Given the description of an element on the screen output the (x, y) to click on. 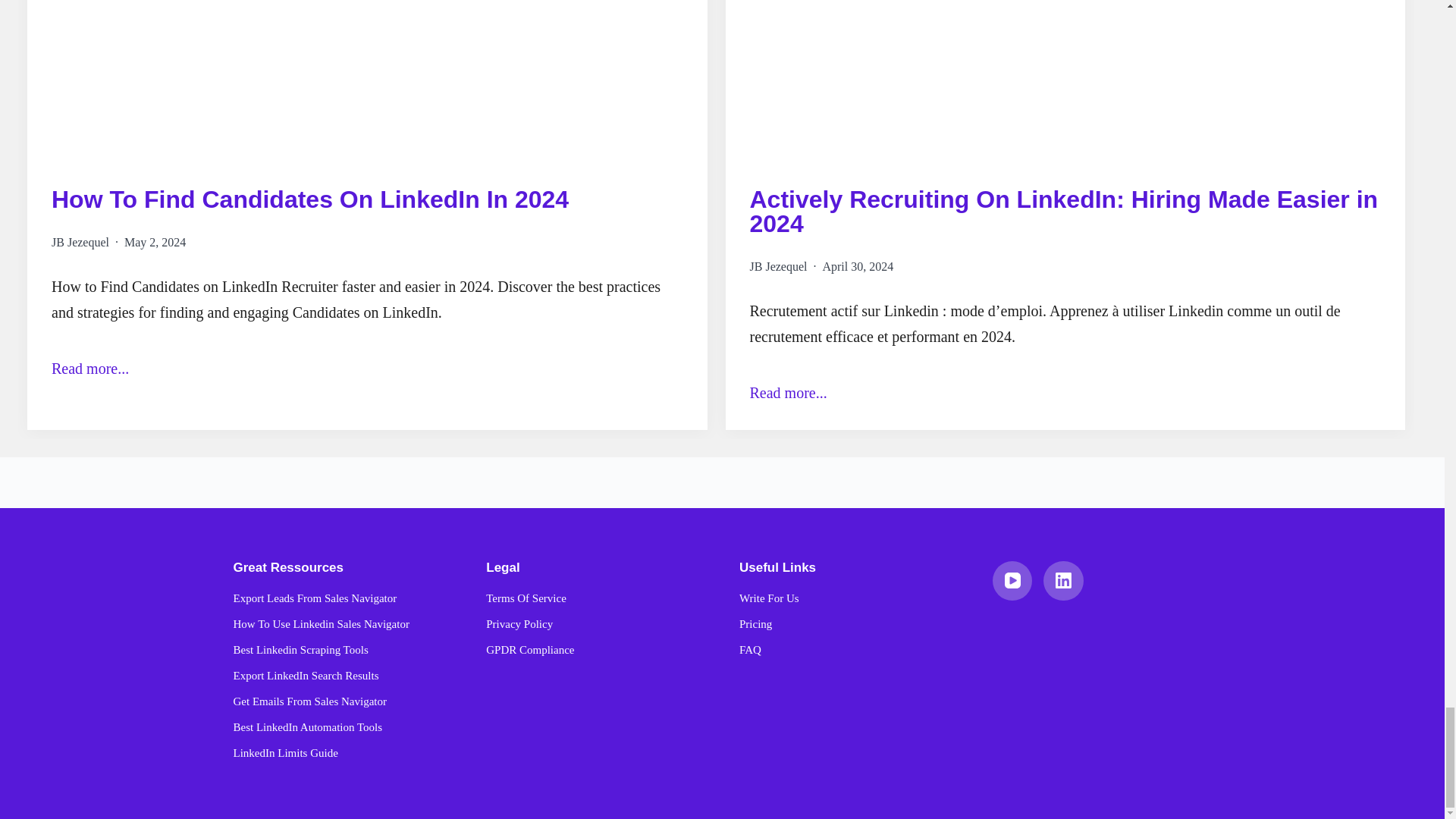
How To Find Candidates On LinkedIn In 2024 4 (367, 81)
